Given the description of an element on the screen output the (x, y) to click on. 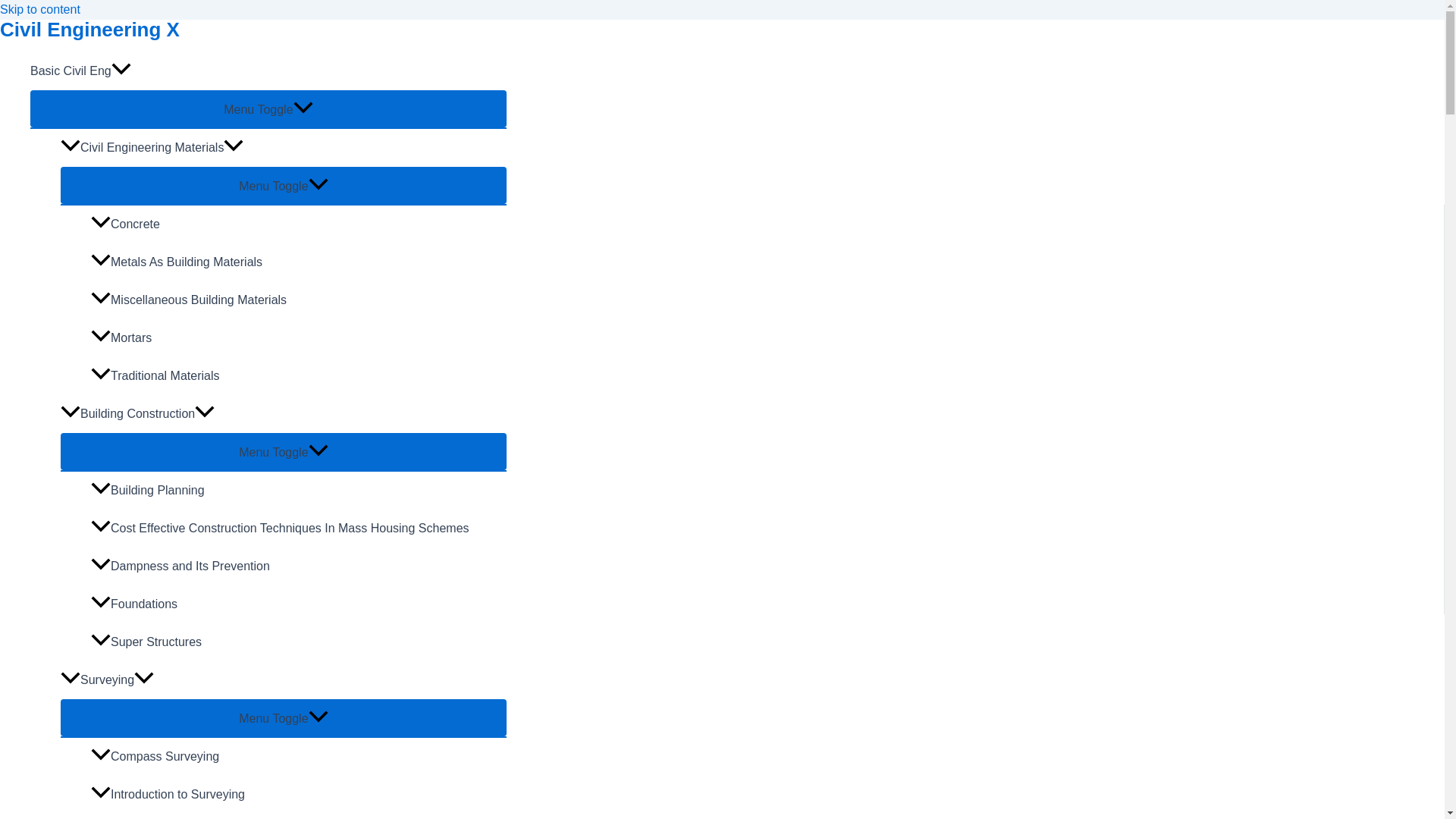
Compass Surveying (298, 756)
Mortars (298, 338)
Introduction to Surveying (298, 794)
Menu Toggle (283, 185)
Traditional Materials (298, 375)
Skip to content (40, 9)
Super Structures (298, 641)
Menu Toggle (283, 451)
Metals As Building Materials (298, 262)
Menu Toggle (283, 717)
